Given the description of an element on the screen output the (x, y) to click on. 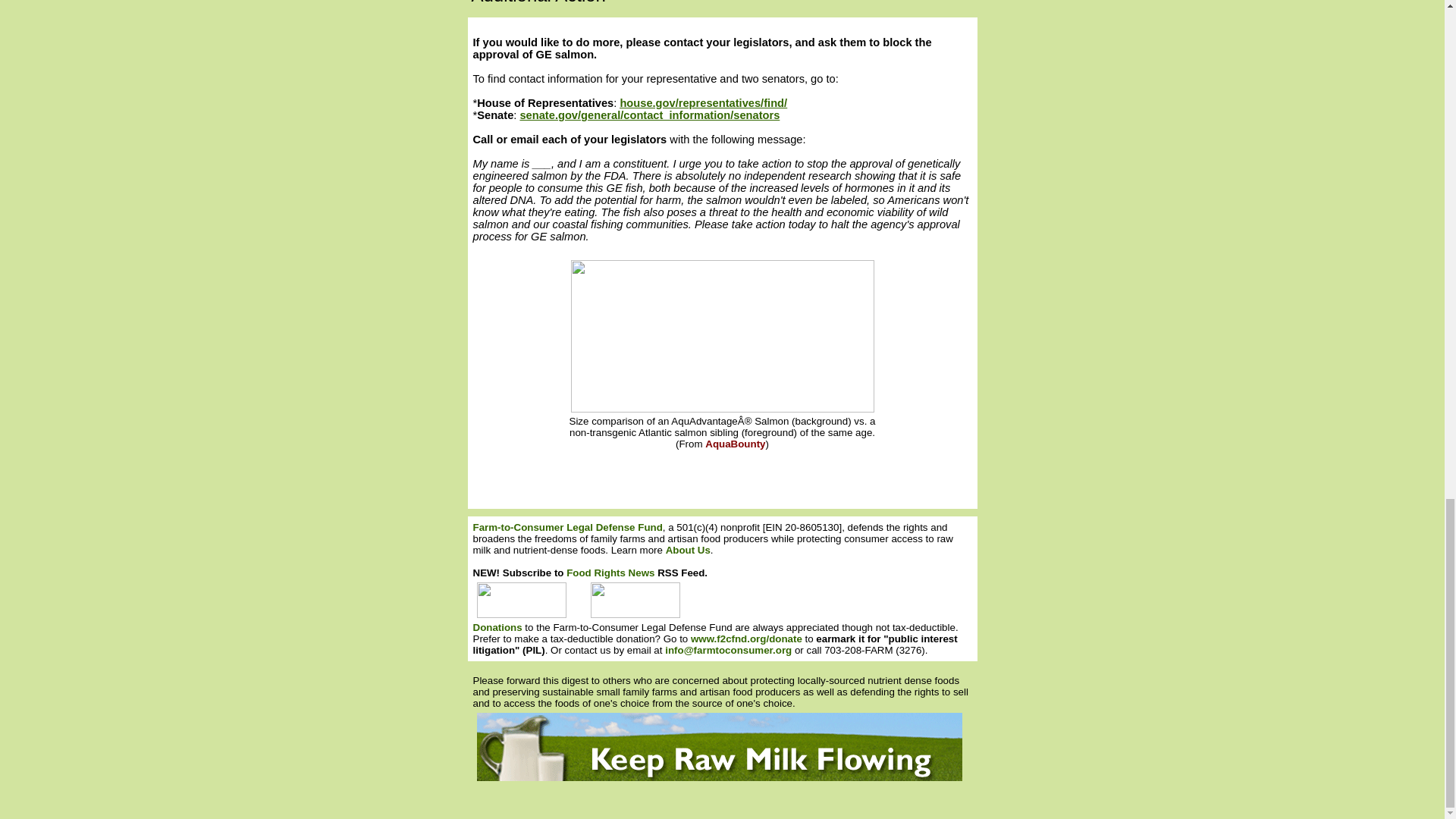
Food Rights News (609, 572)
AquaBounty (734, 443)
Donations (497, 627)
About Us (687, 550)
Farm-to-Consumer Legal Defense Fund (567, 527)
